Given the description of an element on the screen output the (x, y) to click on. 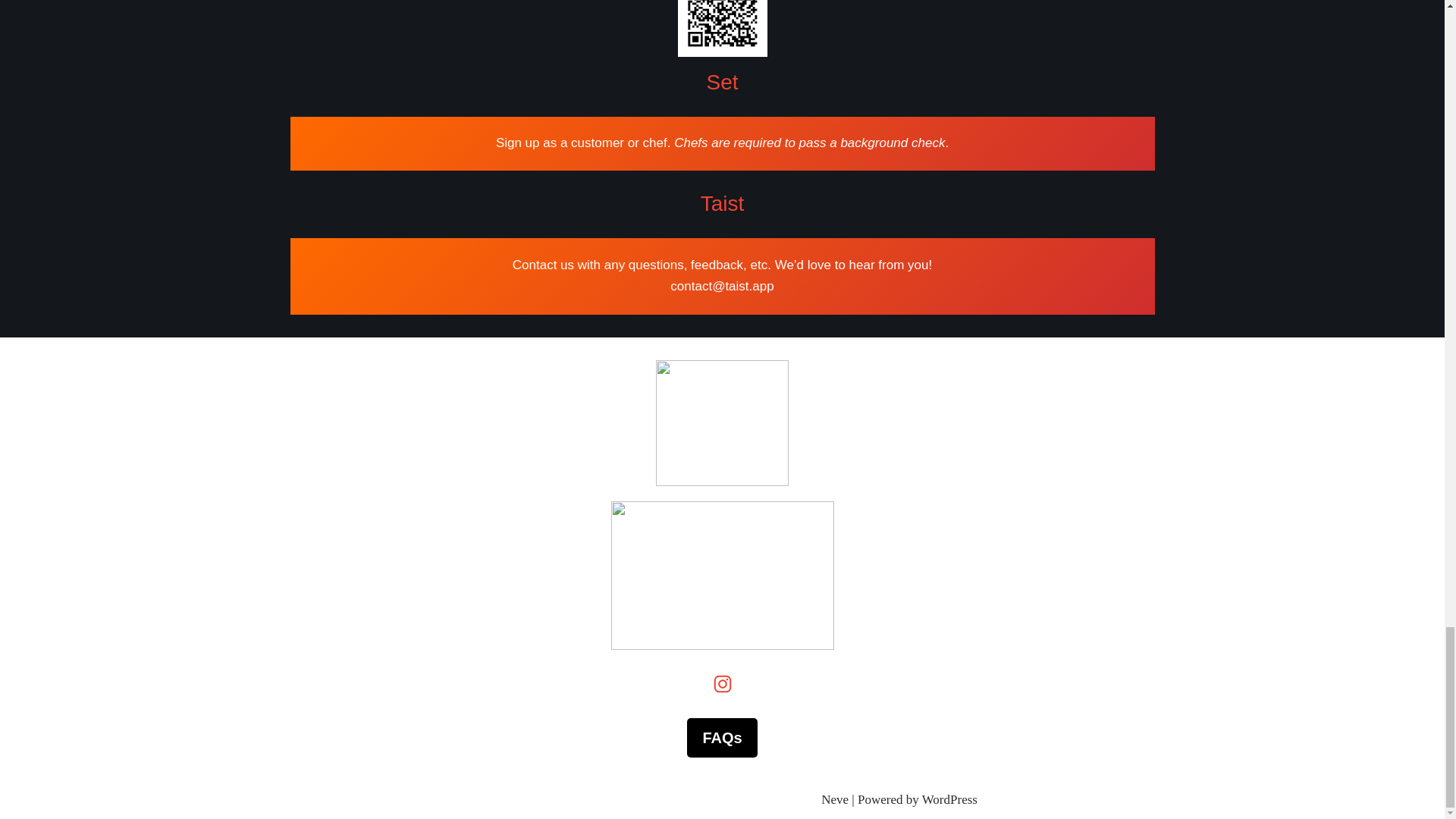
Neve (834, 799)
FAQs (722, 737)
WordPress (948, 799)
